Given the description of an element on the screen output the (x, y) to click on. 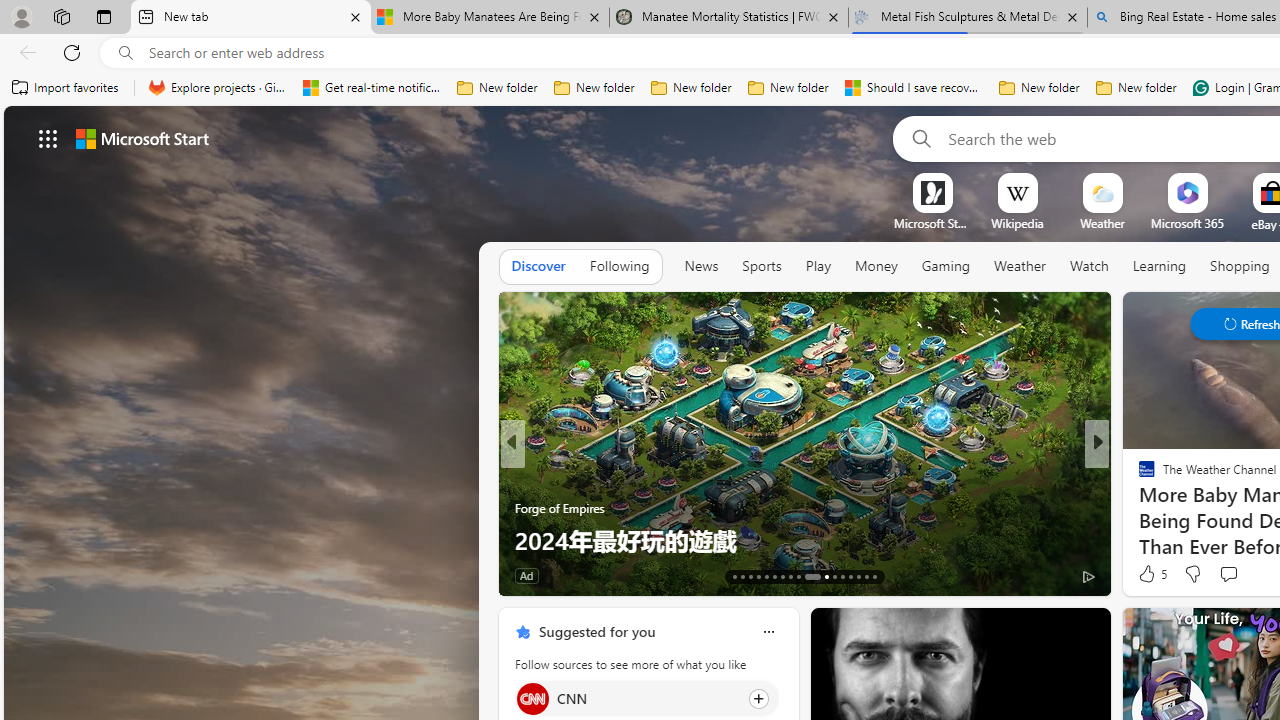
5 Like (1151, 574)
Watch (1089, 267)
View comments 2 Comment (1234, 574)
Click to follow source CNN (646, 698)
AutomationID: tab-15 (750, 576)
View comments 6 Comment (1234, 575)
Ad Choice (1087, 575)
AutomationID: tab-23 (820, 576)
269 Like (1151, 574)
Weather (1019, 267)
